Given the description of an element on the screen output the (x, y) to click on. 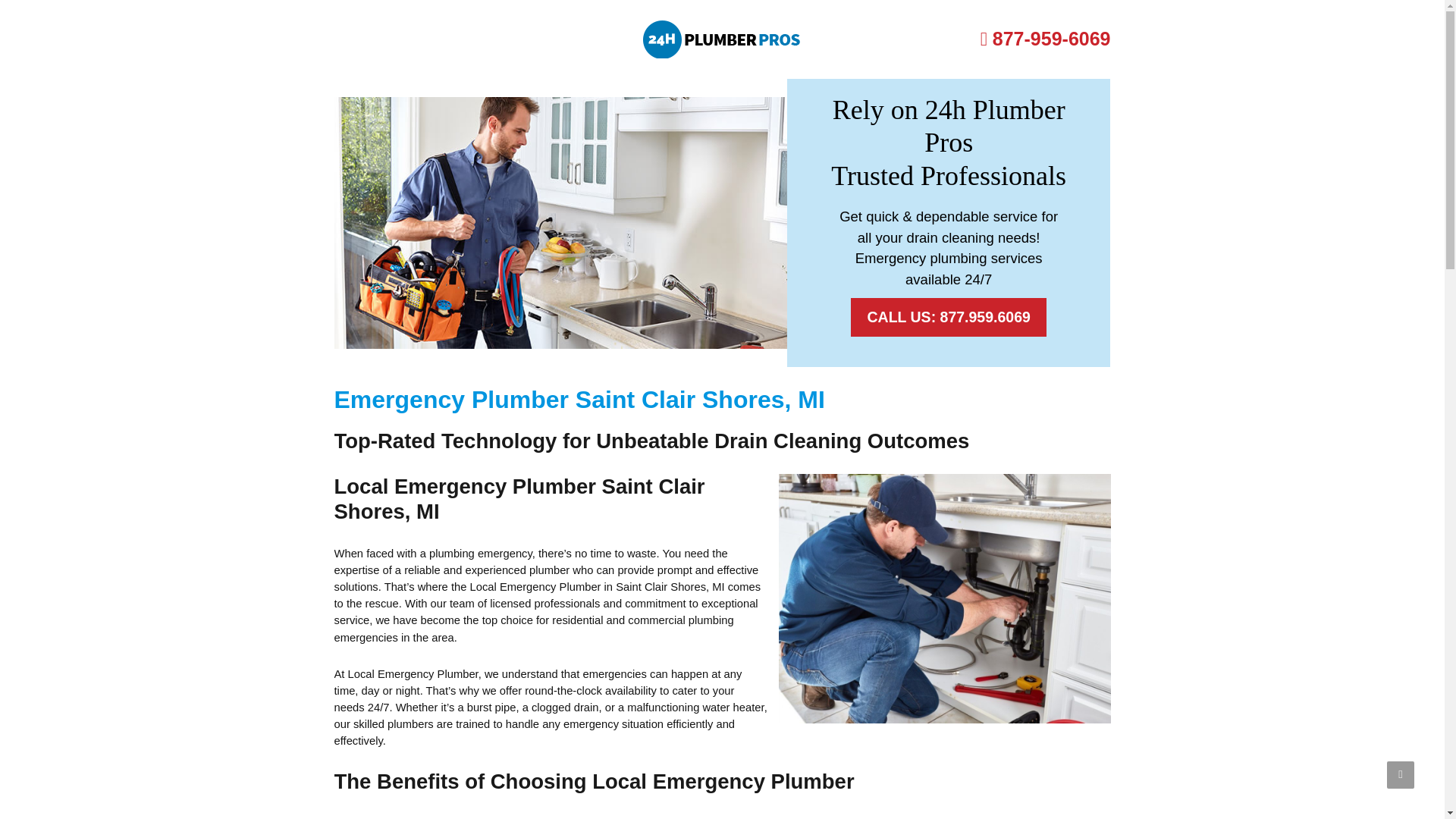
Back To Top (1400, 774)
877-959-6069 (1044, 38)
Call Us Now (1044, 38)
24H Plumber Pros (722, 39)
CALL US: 877.959.6069 (947, 317)
